Given the description of an element on the screen output the (x, y) to click on. 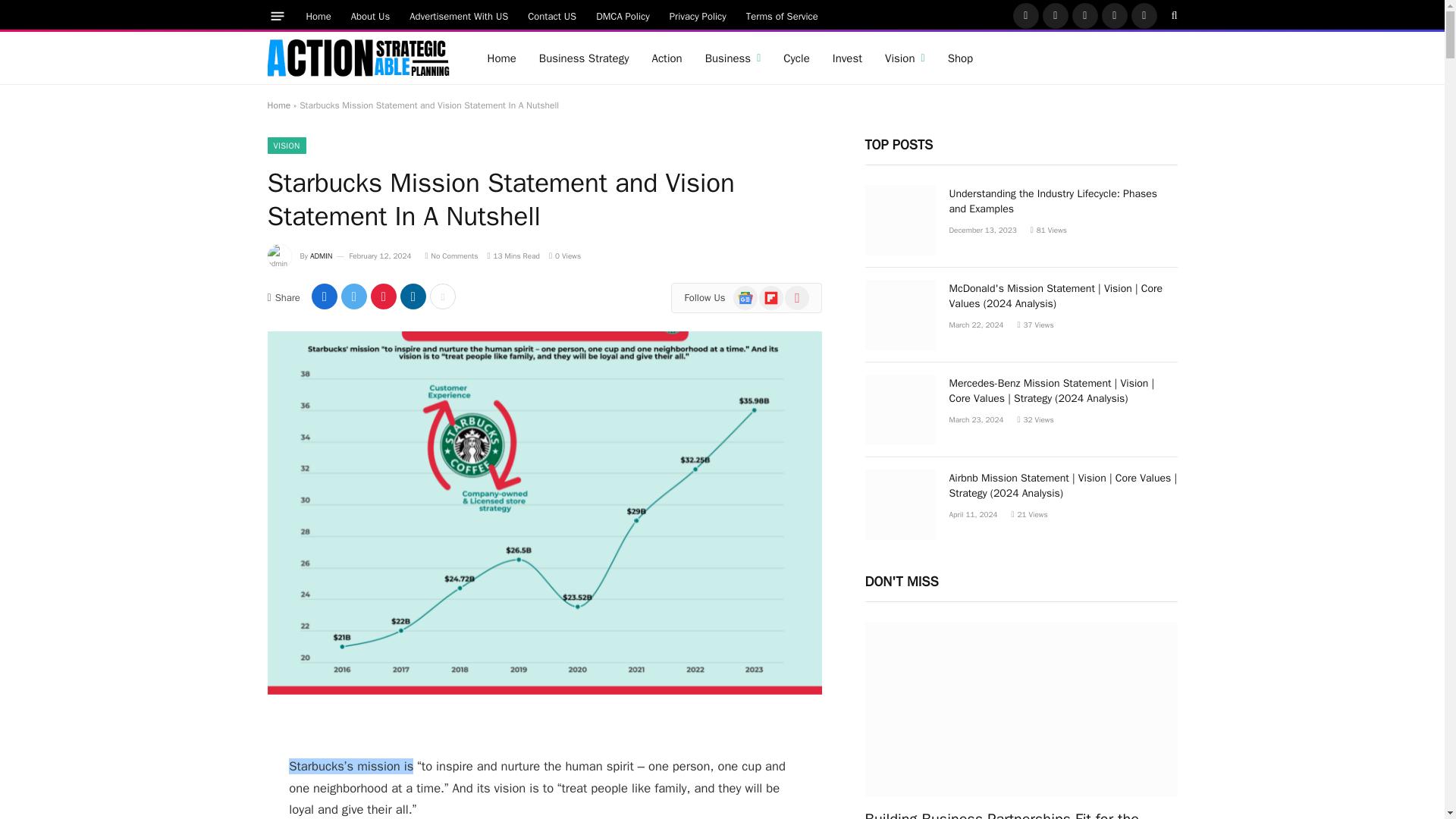
Terms of Service (782, 15)
Share on LinkedIn (413, 296)
Action (666, 57)
Share on Pinterest (383, 296)
Search (1173, 15)
Privacy Policy (697, 15)
Vimeo (1144, 15)
Share on Facebook (324, 296)
0 Article Views (564, 255)
Business Strategy (583, 57)
Home (317, 15)
Posts by admin (321, 255)
Actionable Strategic Planning (357, 58)
Advertisement With US (458, 15)
About Us (369, 15)
